Given the description of an element on the screen output the (x, y) to click on. 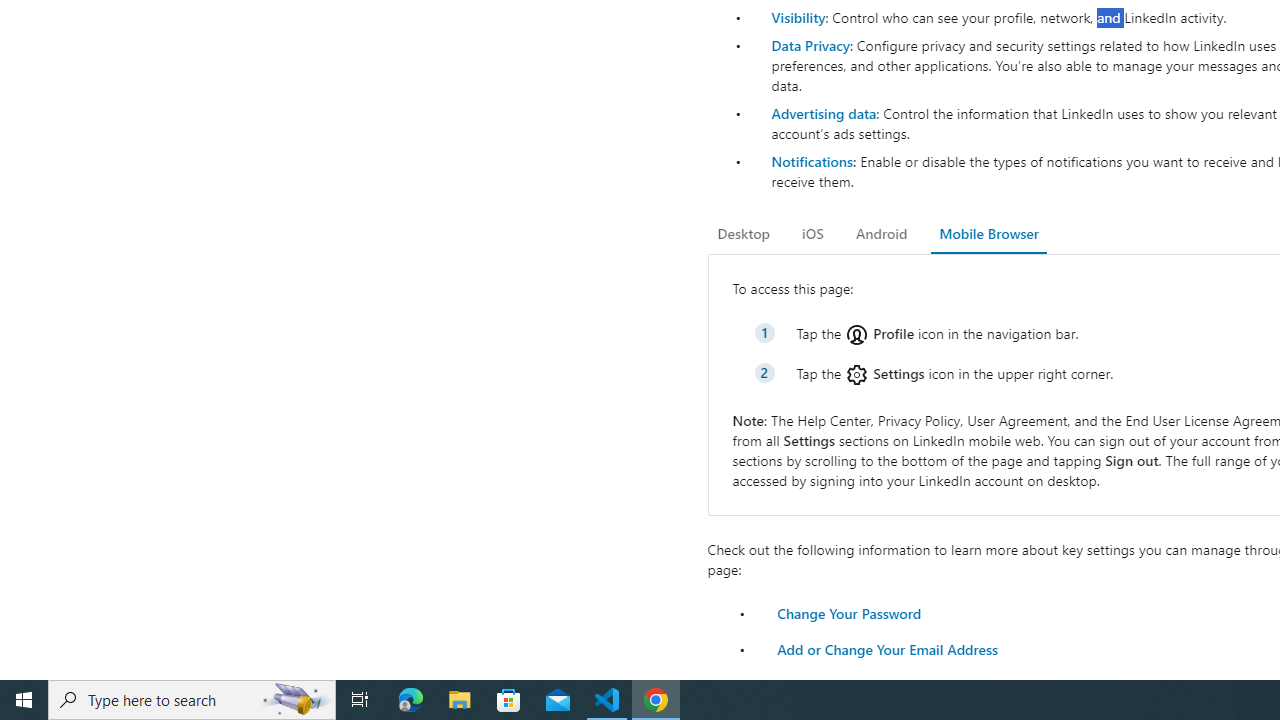
Android (881, 234)
Visibility (797, 17)
Data Privacy (809, 44)
Mobile Browser (988, 234)
Notifications (811, 161)
Add and Remove Mobile Phone Numbers (908, 684)
Change Your Password (848, 612)
Desktop (744, 234)
Add or Change Your Email Address (887, 648)
Advertising data (823, 112)
iOS (812, 234)
